Given the description of an element on the screen output the (x, y) to click on. 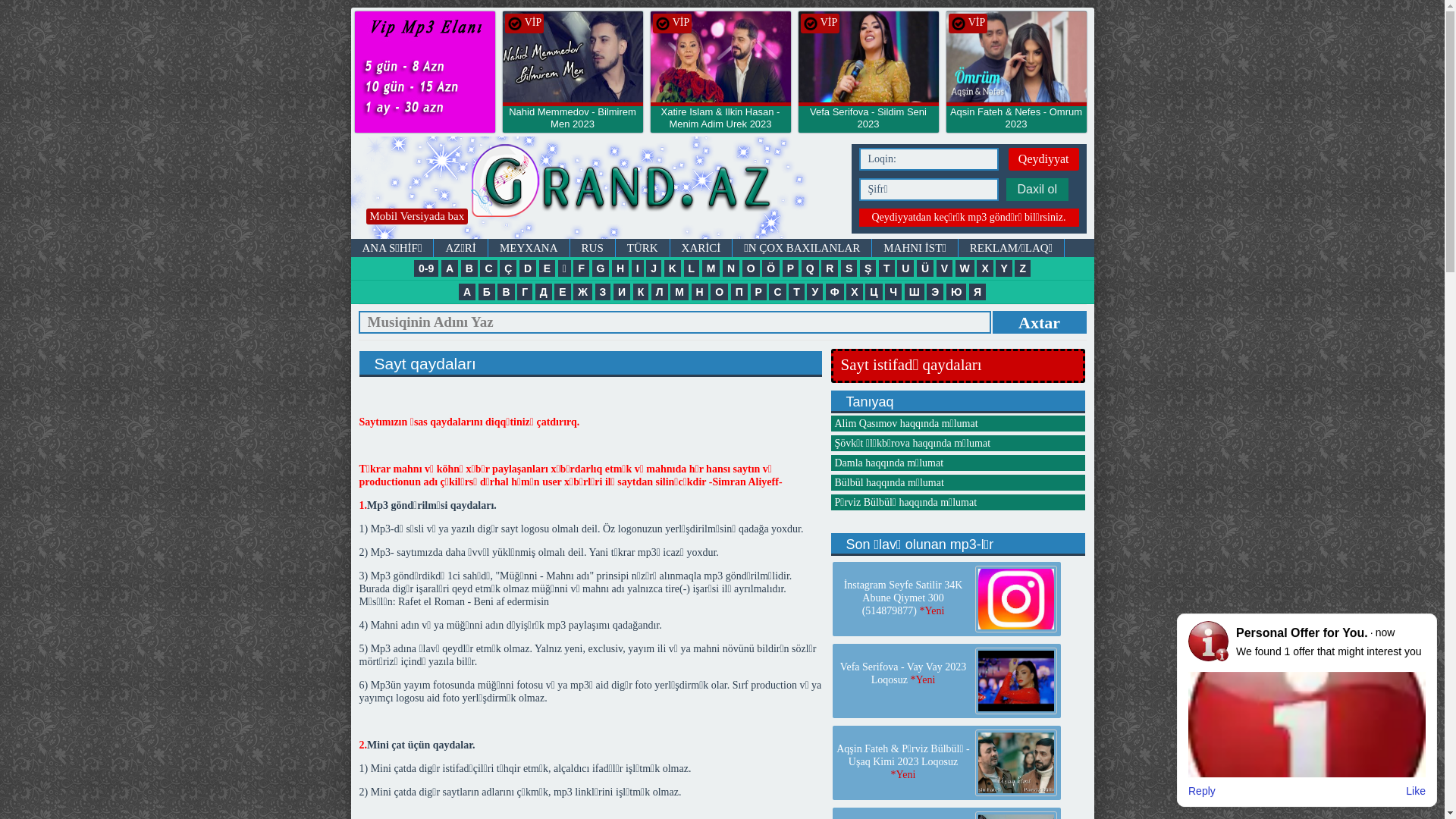
Grand.az Element type: hover (662, 23)
T Element type: text (886, 268)
MEYXANA Element type: text (529, 247)
Grand.az Element type: hover (424, 71)
Vefa Serifova - Sildim Seni 2023
*Yeni Element type: text (867, 124)
Vefa Serifova - Vay Vay 2023 Loqosuz *Yeni Element type: text (903, 673)
V Element type: text (944, 268)
C Element type: text (488, 268)
Grand.az Element type: hover (720, 58)
0-9 Element type: text (426, 268)
H Element type: text (619, 268)
Z Element type: text (1022, 268)
Aqsin Fateh & Nefes - Omrum 2023
*Yeni Element type: text (1016, 124)
B Element type: text (469, 268)
Axtar Element type: text (1038, 321)
Daxil ol Element type: text (1036, 189)
R Element type: text (829, 268)
F Element type: text (581, 268)
O Element type: text (750, 268)
U Element type: text (905, 268)
S Element type: text (848, 268)
M Element type: text (711, 268)
Mobil Versiyada bax Element type: text (417, 216)
Grand.az Element type: hover (958, 23)
Grand.az Element type: hover (867, 58)
Grand.az Element type: hover (513, 23)
Nahid Memmedov - Bilmirem Men 2023
*Yeni Element type: text (572, 124)
Xatire Islam & Ilkin Hasan - Menim Adim Urek 2023
*Yeni Element type: text (720, 124)
Q Element type: text (810, 268)
A Element type: text (449, 268)
Mp3 Element type: text (596, 187)
G Element type: text (600, 268)
I Element type: text (637, 268)
D Element type: text (527, 268)
E Element type: text (547, 268)
Y Element type: text (1003, 268)
J Element type: text (653, 268)
Qeydiyyat Element type: text (1043, 158)
N Element type: text (730, 268)
RUS Element type: text (592, 247)
Grand.az Element type: hover (809, 23)
X Element type: text (984, 268)
K Element type: text (672, 268)
Grand.az Element type: hover (572, 58)
W Element type: text (964, 268)
L Element type: text (691, 268)
P Element type: text (790, 268)
Grand.az Element type: hover (1016, 58)
